Given the description of an element on the screen output the (x, y) to click on. 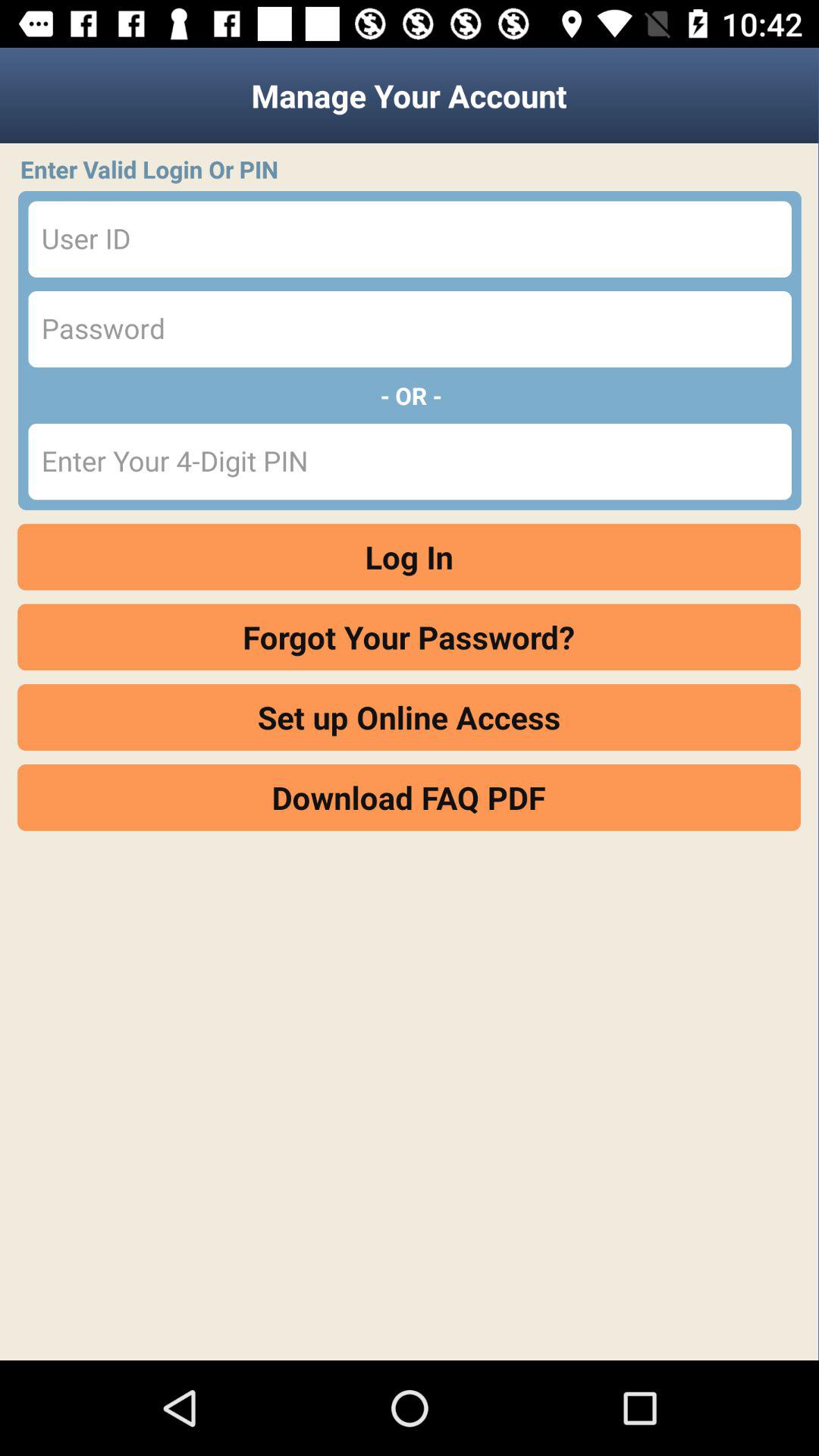
turn on the icon above the forgot your password? icon (408, 557)
